Given the description of an element on the screen output the (x, y) to click on. 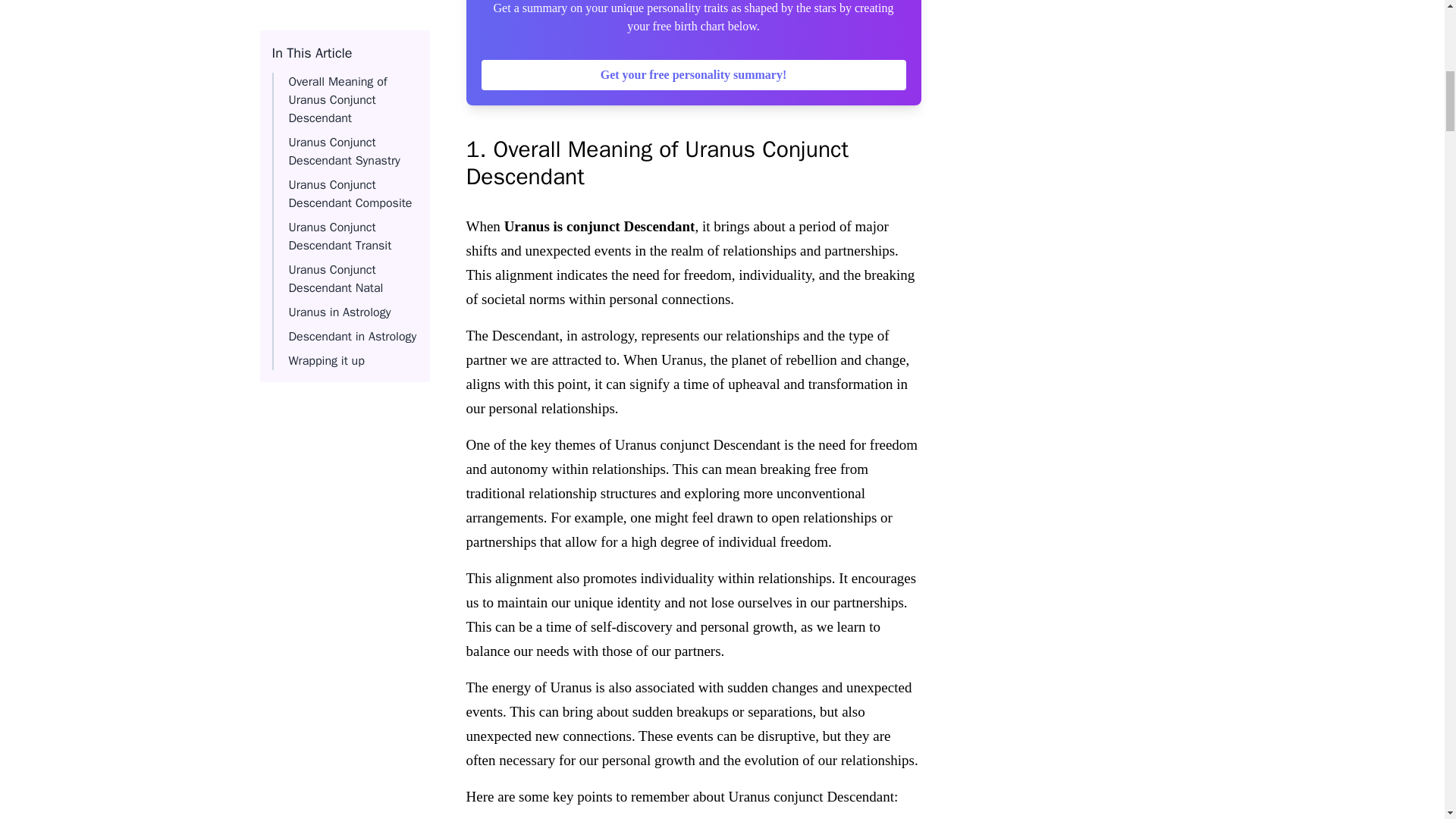
Descendant in Astrology (352, 80)
Wrapping it up (326, 105)
Uranus Conjunct Descendant Natal (335, 23)
Uranus in Astrology (339, 56)
Get your free personality summary! (692, 74)
